Given the description of an element on the screen output the (x, y) to click on. 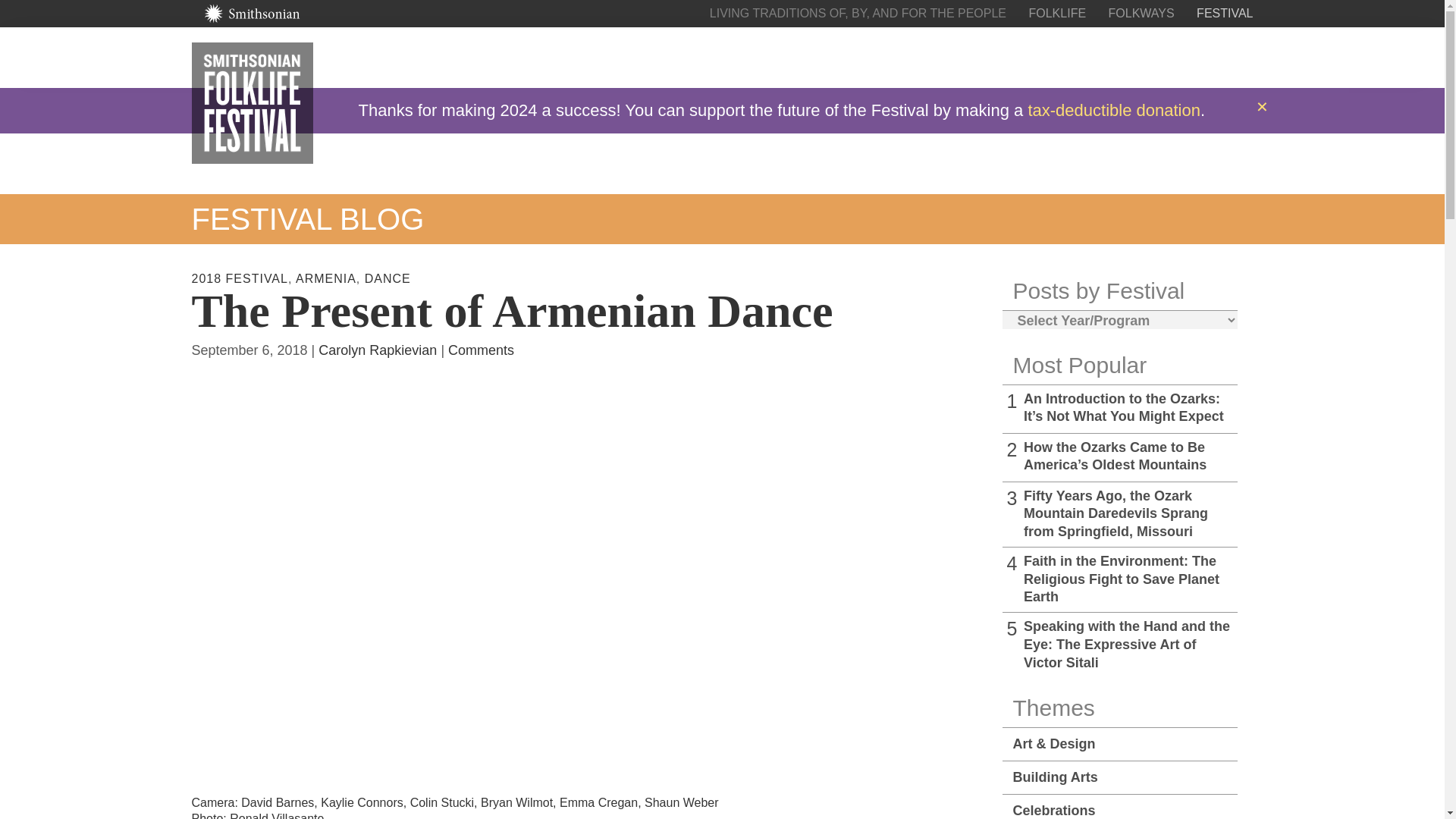
share (1198, 56)
menu (1243, 57)
menu (1244, 56)
search (1152, 57)
share (1198, 57)
FESTIVAL (1224, 12)
FOLKLIFE (1056, 12)
FOLKWAYS (1141, 12)
search (1152, 56)
